Given the description of an element on the screen output the (x, y) to click on. 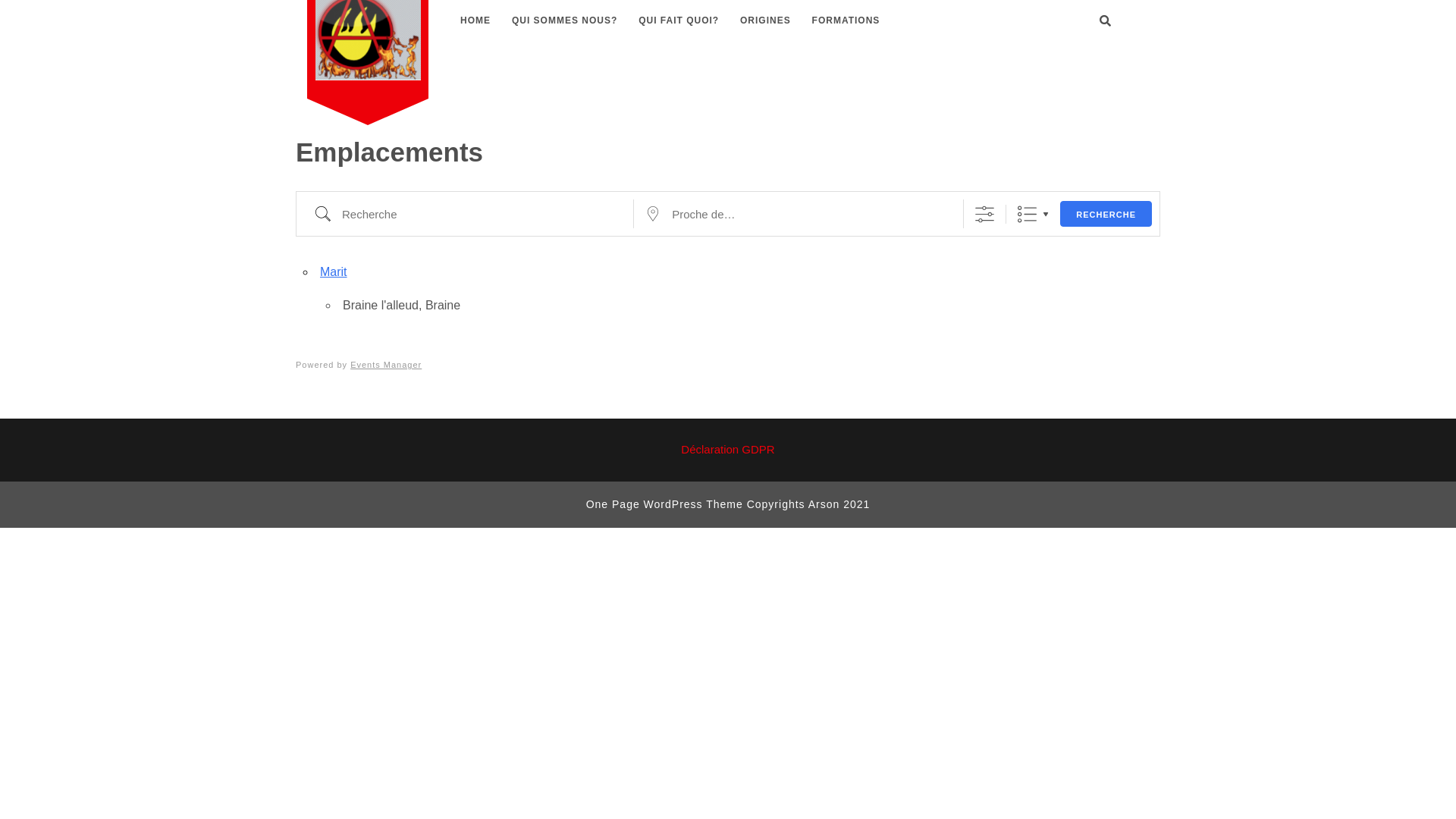
Liste Element type: text (1026, 213)
RECHERCHE Element type: text (1105, 213)
QUI FAIT QUOI? Element type: text (678, 20)
HOME Element type: text (475, 20)
One Page WordPress Theme Element type: text (664, 503)
ORIGINES Element type: text (765, 20)
Events Manager Element type: text (385, 364)
Marit Element type: text (333, 271)
FORMATIONS Element type: text (846, 20)
QUI SOMMES NOUS? Element type: text (564, 20)
